Given the description of an element on the screen output the (x, y) to click on. 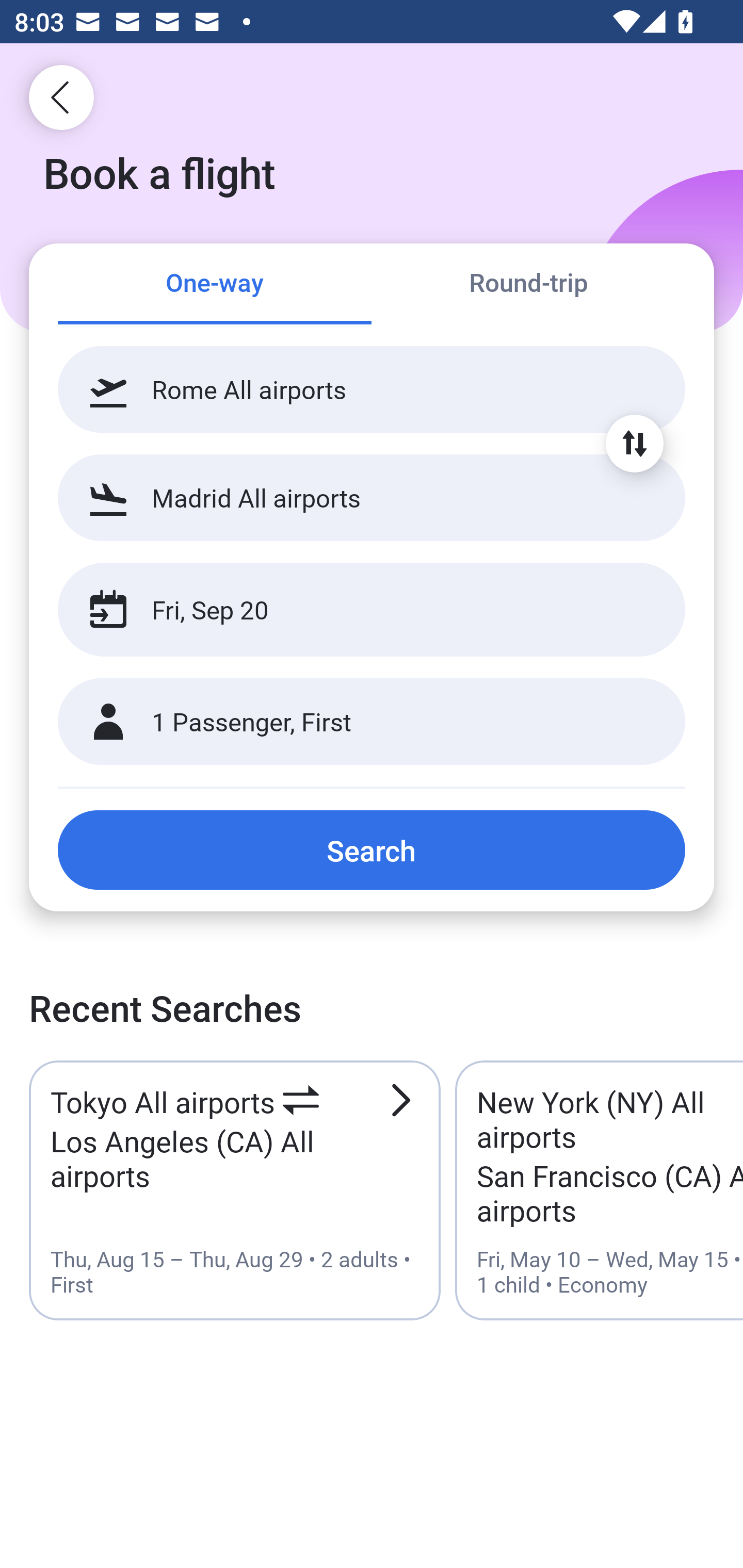
Round-trip (528, 284)
Rome All airports (371, 389)
Madrid All airports (371, 497)
Fri, Sep 20 (349, 609)
1 Passenger, First (371, 721)
Search (371, 849)
